Given the description of an element on the screen output the (x, y) to click on. 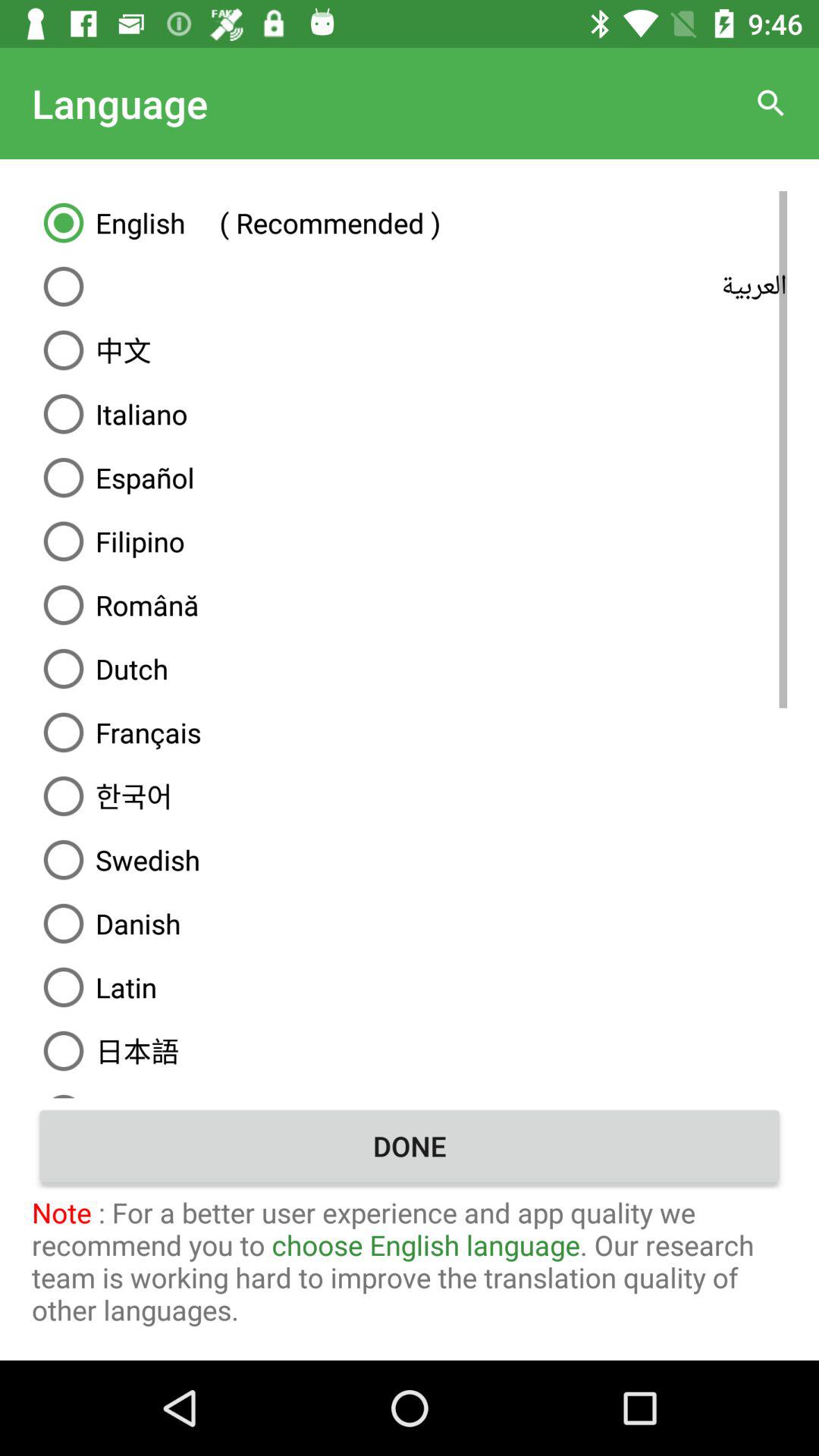
select the item below the latin icon (409, 1050)
